Given the description of an element on the screen output the (x, y) to click on. 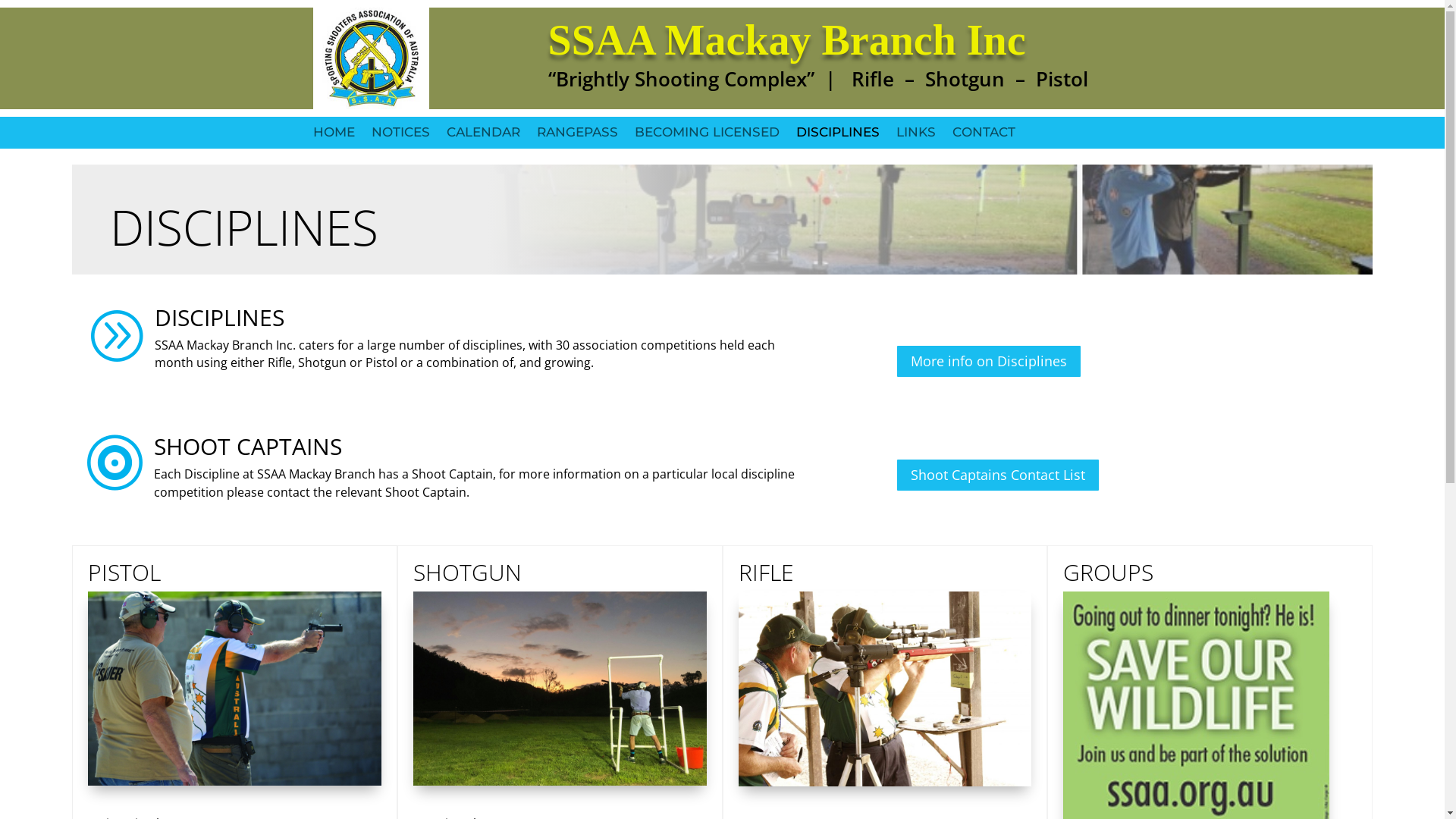
LINKS Element type: text (915, 139)
CALENDAR Element type: text (482, 139)
CONTACT Element type: text (983, 139)
ssaamackay-logo Element type: hover (370, 58)
mackay-shooting-range Element type: hover (559, 688)
More info on Disciplines Element type: text (988, 361)
Disciplines-Action-Match-2 Element type: hover (234, 688)
Air Rifle Element type: hover (885, 689)
HOME Element type: text (333, 139)
Shoot Captains Contact List Element type: text (997, 475)
NOTICES Element type: text (400, 139)
RANGEPASS Element type: text (577, 139)
DISCIPLINES Element type: text (837, 139)
BECOMING LICENSED Element type: text (705, 139)
